Given the description of an element on the screen output the (x, y) to click on. 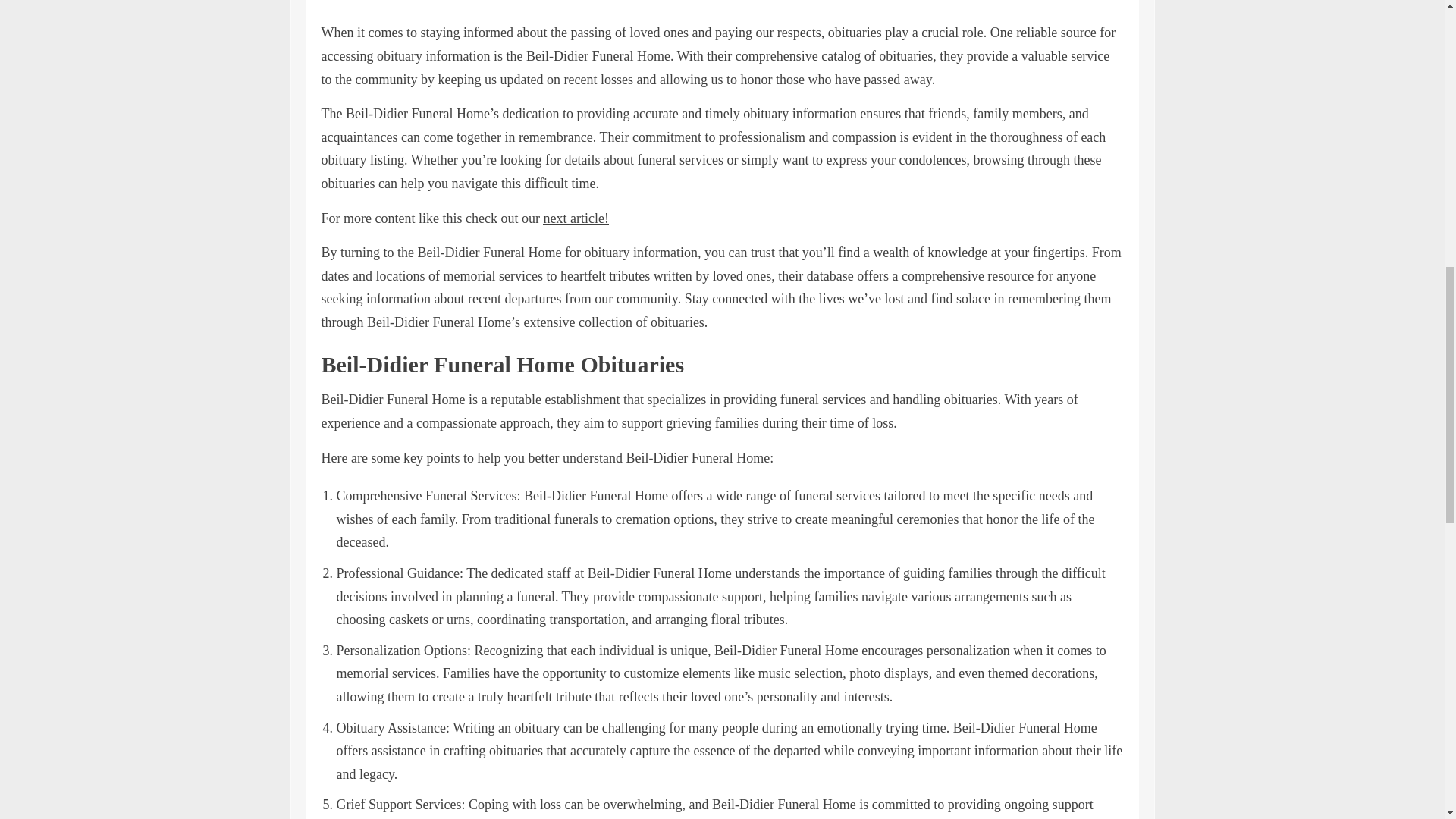
next article! (575, 218)
